Given the description of an element on the screen output the (x, y) to click on. 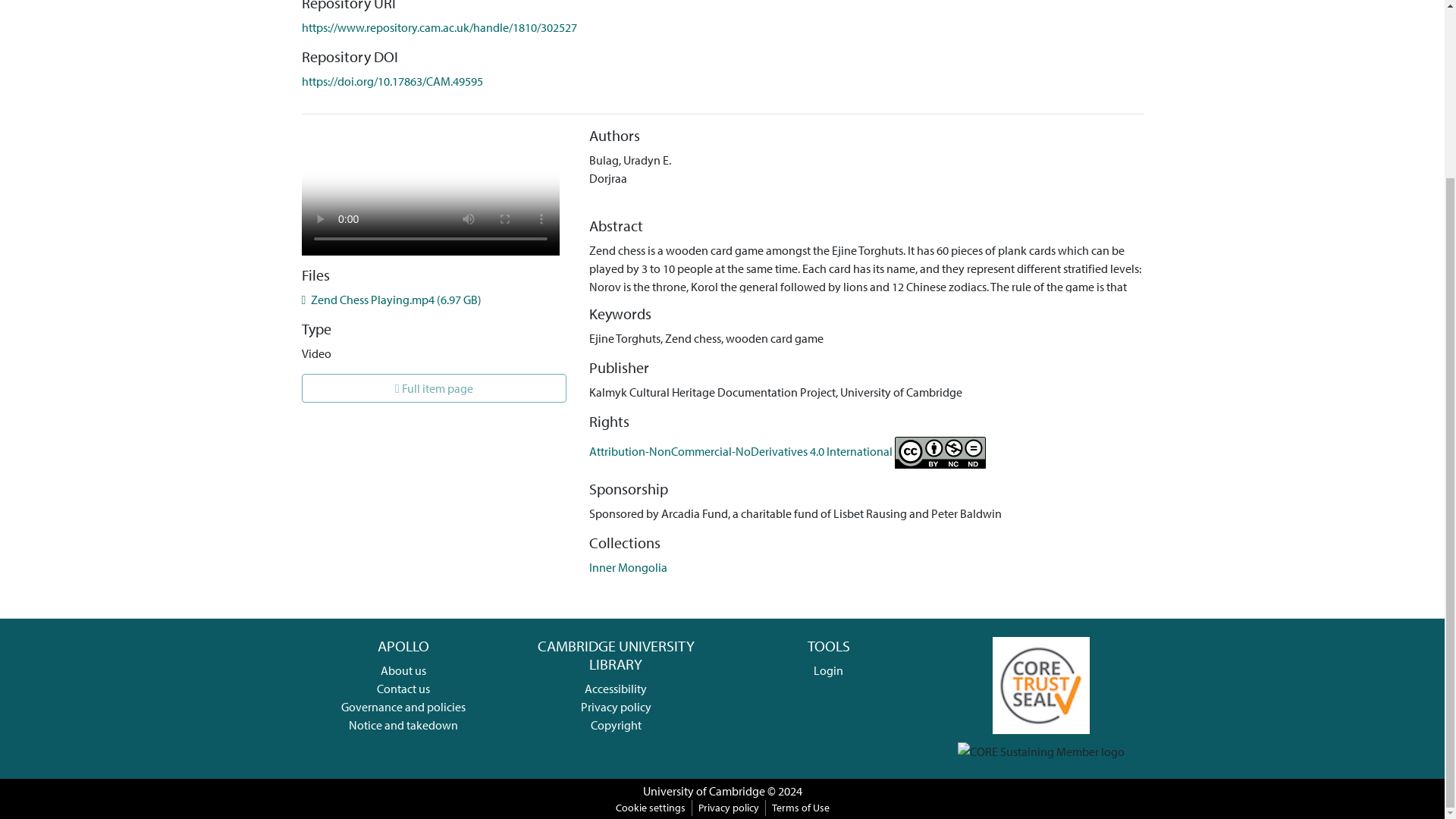
Contact us (403, 688)
Governance and policies (402, 706)
Privacy policy (615, 706)
Full item page (434, 387)
Inner Mongolia (627, 566)
About us (403, 670)
Accessibility (615, 688)
Notice and takedown (403, 724)
Attribution-NonCommercial-NoDerivatives 4.0 International (787, 450)
Apollo CTS full application (1040, 683)
